Given the description of an element on the screen output the (x, y) to click on. 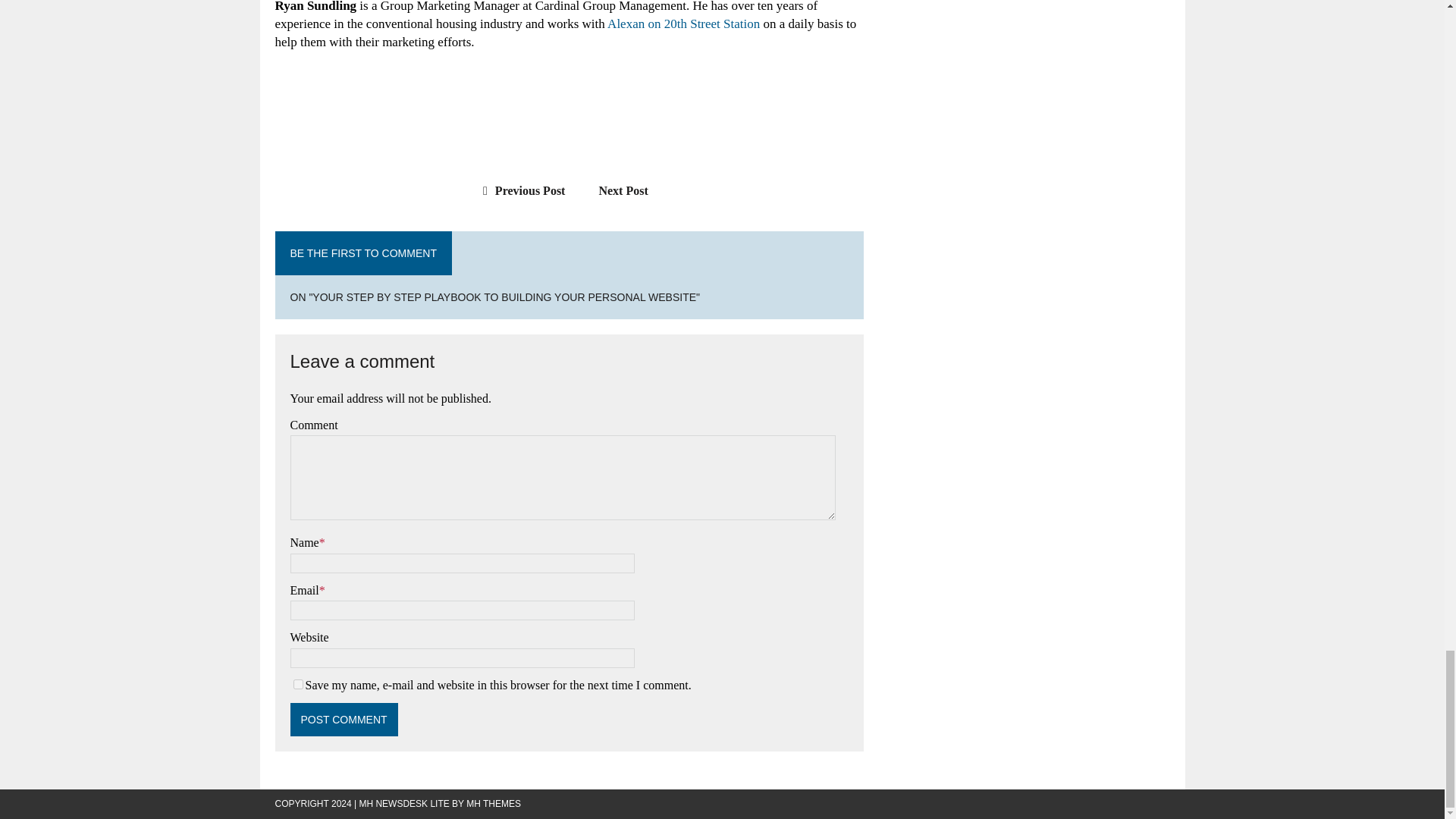
Post Comment (343, 719)
MH THEMES (493, 803)
yes (297, 684)
Next Post (630, 190)
Post Comment (343, 719)
Alexan on 20th Street Station (683, 23)
Previous Post (520, 190)
